Given the description of an element on the screen output the (x, y) to click on. 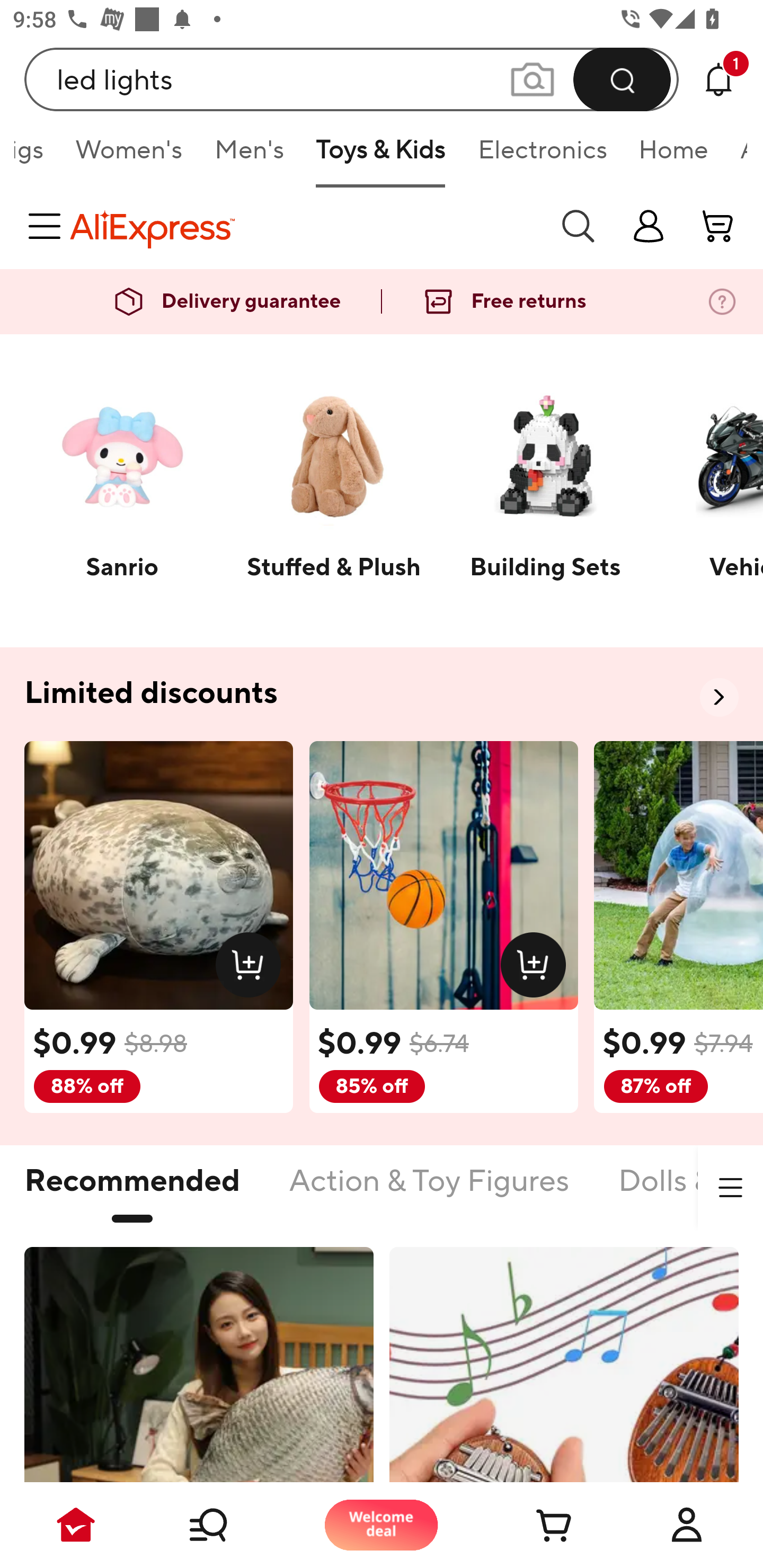
led lights (351, 79)
Women's (128, 155)
Men's (248, 155)
Electronics (541, 155)
Home (673, 155)
aliexpress (305, 225)
category (47, 225)
shop (648, 225)
account (718, 225)
Limited discounts  Limited discounts (381, 694)
128x128.png_ (252, 967)
128x128.png_ (536, 967)
 (730, 1188)
Recommended (132, 1191)
Action & Toy Figures (428, 1191)
Dolls & Accessories (689, 1191)
Shop (228, 1524)
Cart (533, 1524)
Account (686, 1524)
